Given the description of an element on the screen output the (x, y) to click on. 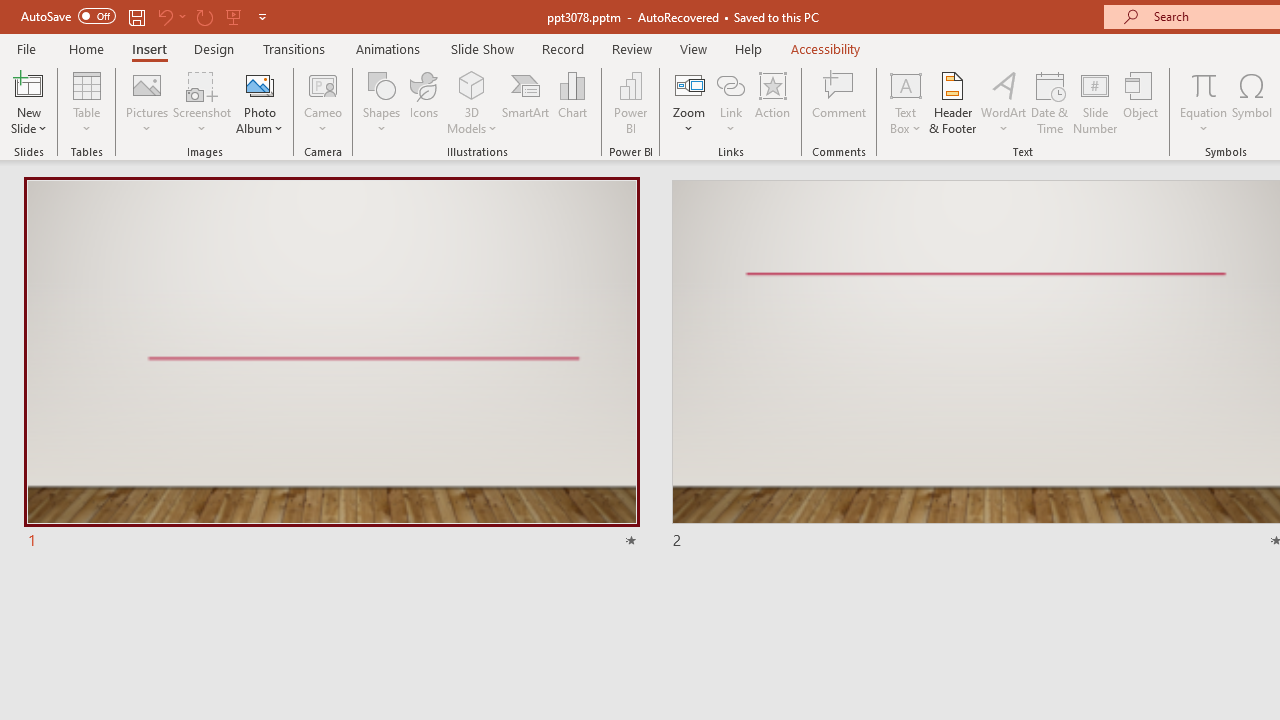
Chart... (572, 102)
SmartArt... (525, 102)
Action (772, 102)
Screenshot (202, 102)
